Given the description of an element on the screen output the (x, y) to click on. 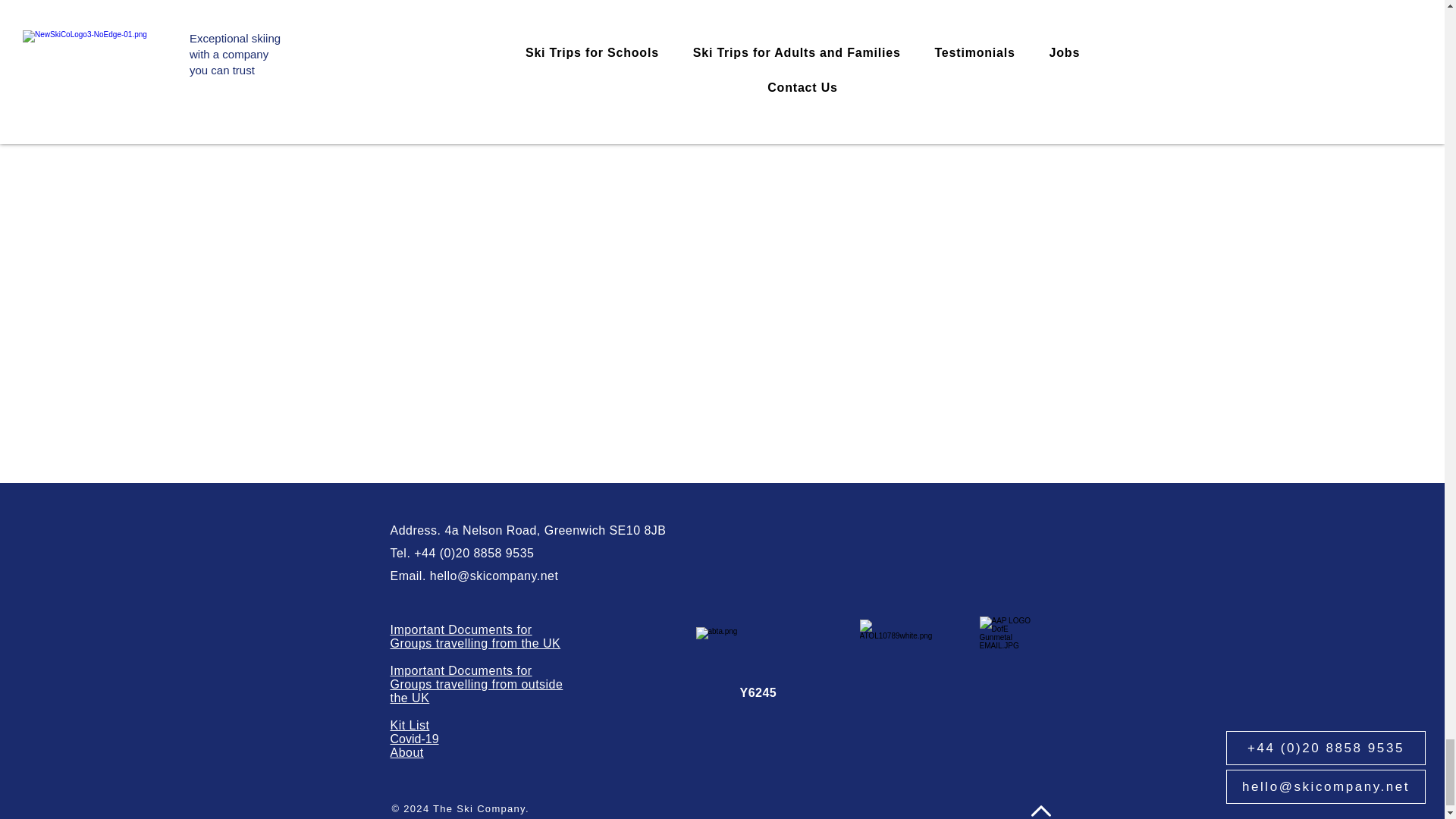
About (406, 752)
Important Documents for Groups travelling from the UK (475, 636)
Covid-19 (414, 738)
Kit List (409, 725)
